Given the description of an element on the screen output the (x, y) to click on. 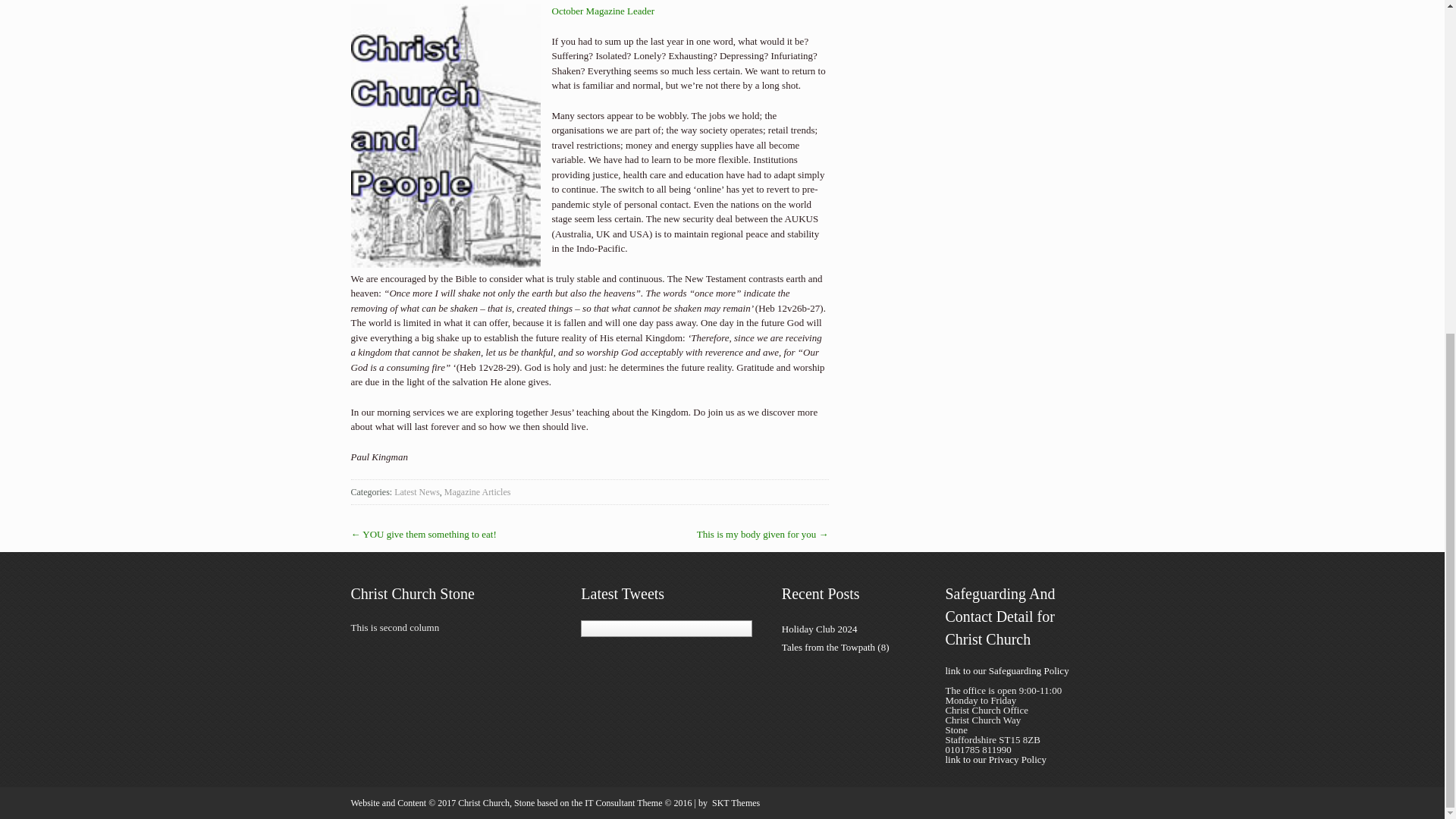
View all posts in Latest News (416, 491)
View all posts in Magazine Articles (477, 491)
